Given the description of an element on the screen output the (x, y) to click on. 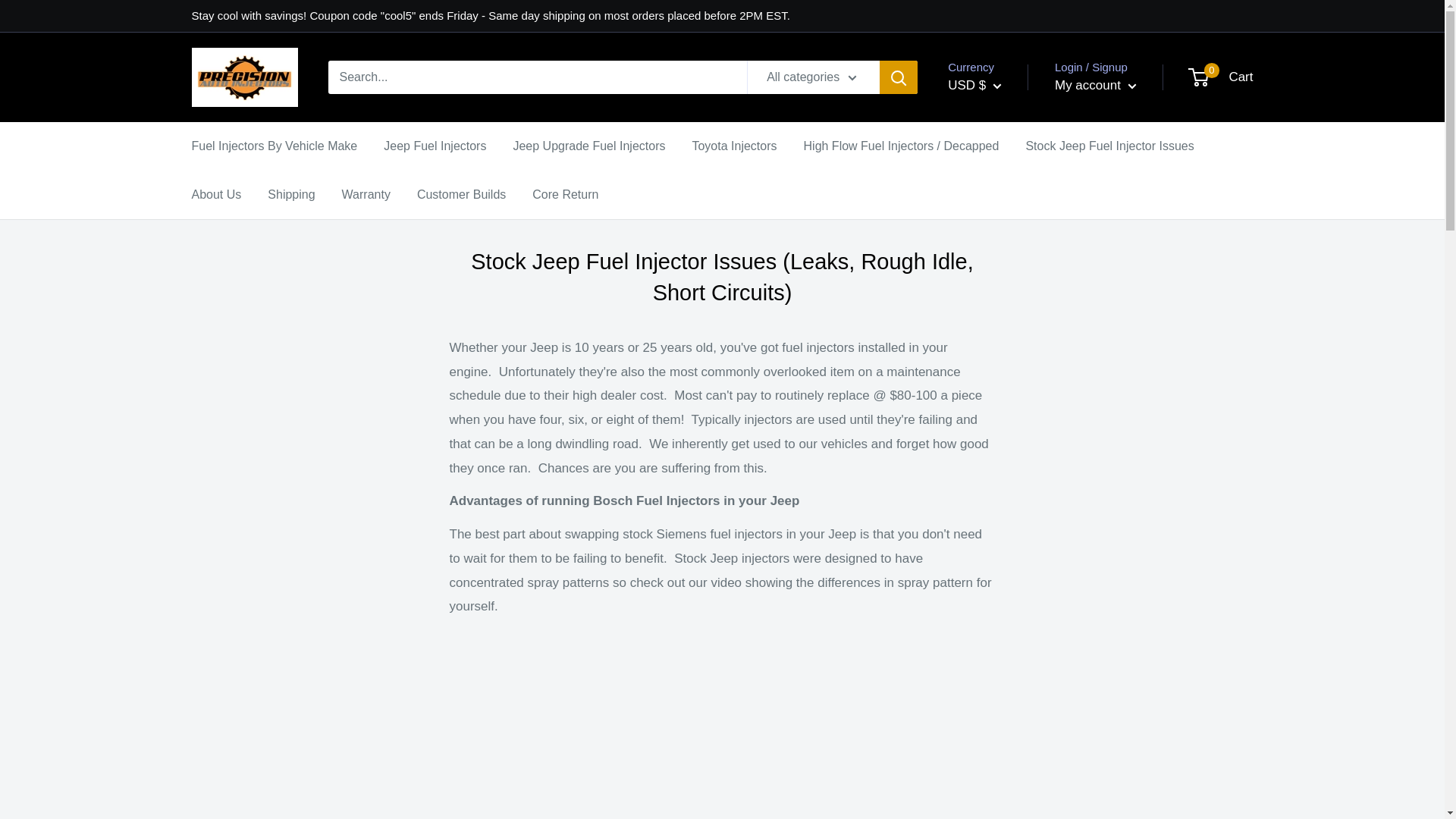
AMD (998, 332)
AUD (998, 379)
ALL (998, 309)
BIF (998, 540)
BSD (998, 610)
AZN (998, 425)
BDT (998, 493)
AED (998, 263)
BOB (998, 586)
BND (998, 564)
